Given the description of an element on the screen output the (x, y) to click on. 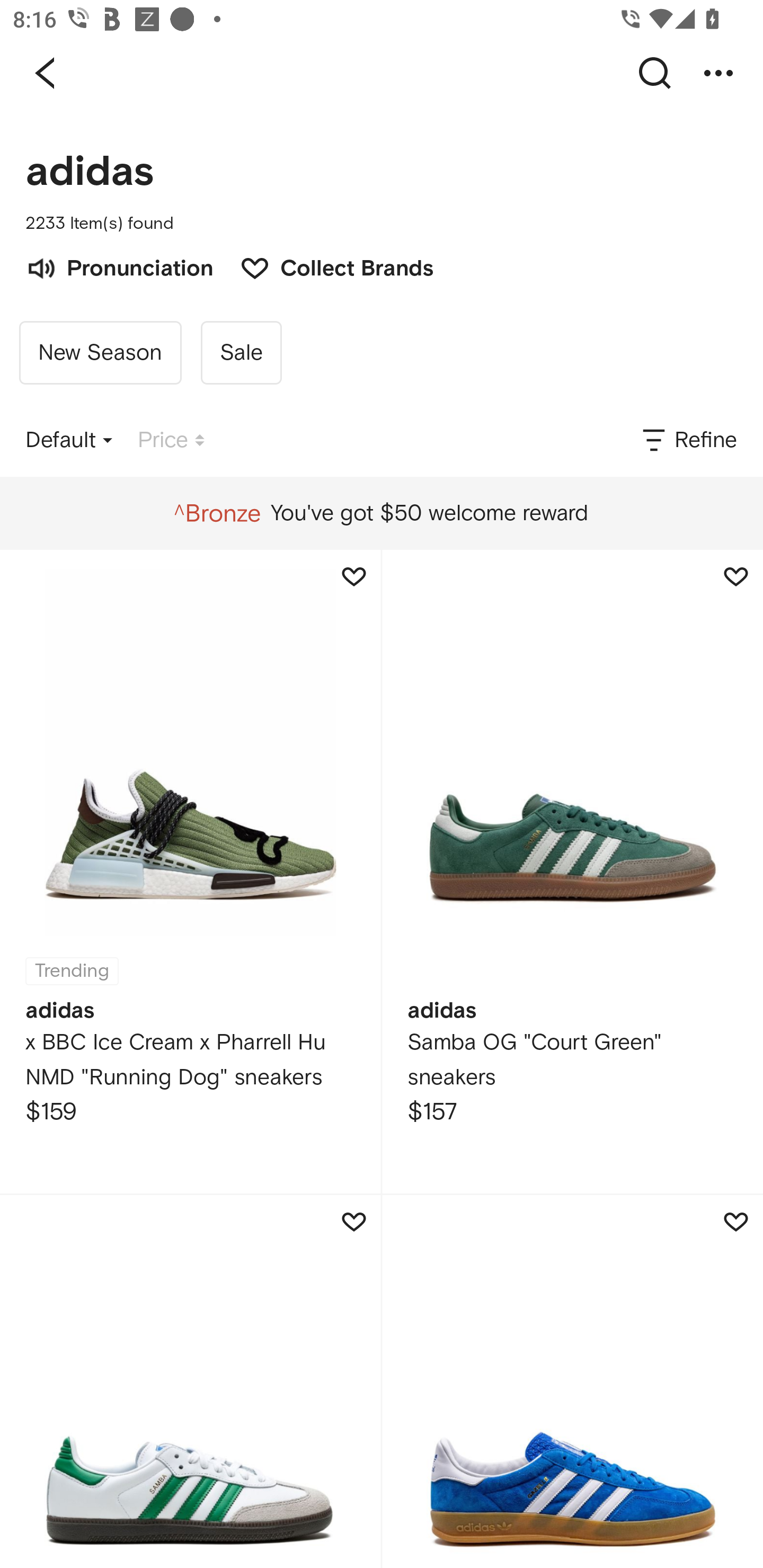
Pronunciation (119, 266)
Collect Brands (327, 266)
New Season (100, 352)
Sale (240, 352)
Default (68, 440)
Price (171, 440)
Refine (688, 440)
You've got $50 welcome reward (381, 513)
adidas Samba OG "Court Green" sneakers $157 (572, 871)
